Given the description of an element on the screen output the (x, y) to click on. 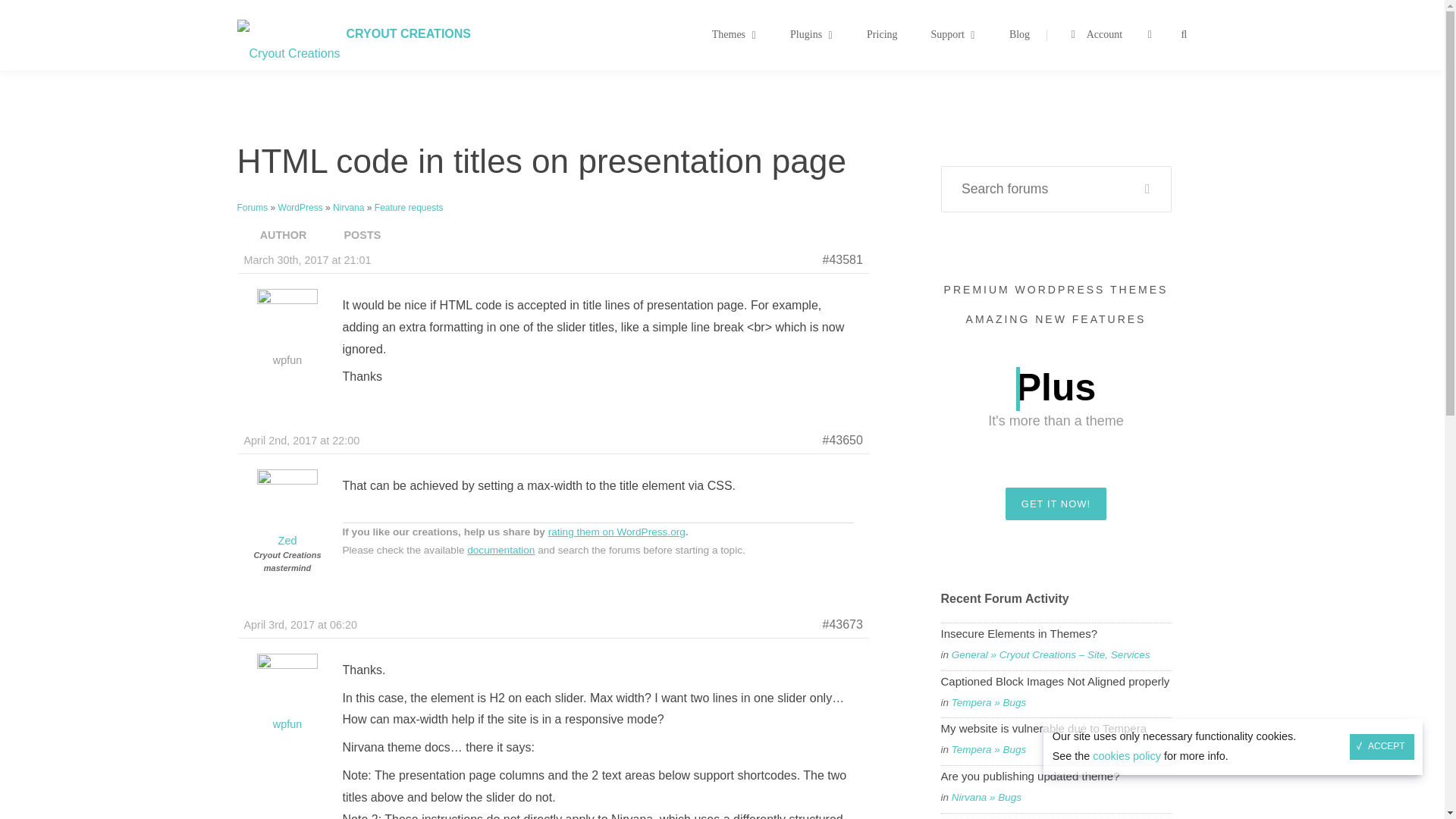
Mastodon (26, 10)
CRYOUT CREATIONS (408, 33)
Free WordPress Themes and Plugins (408, 33)
View Zed's profile (898, 35)
View wpfun's profile (287, 532)
Accept cookies and dismiss this notification (287, 716)
Themes (1381, 746)
View wpfun's profile (734, 34)
